Given the description of an element on the screen output the (x, y) to click on. 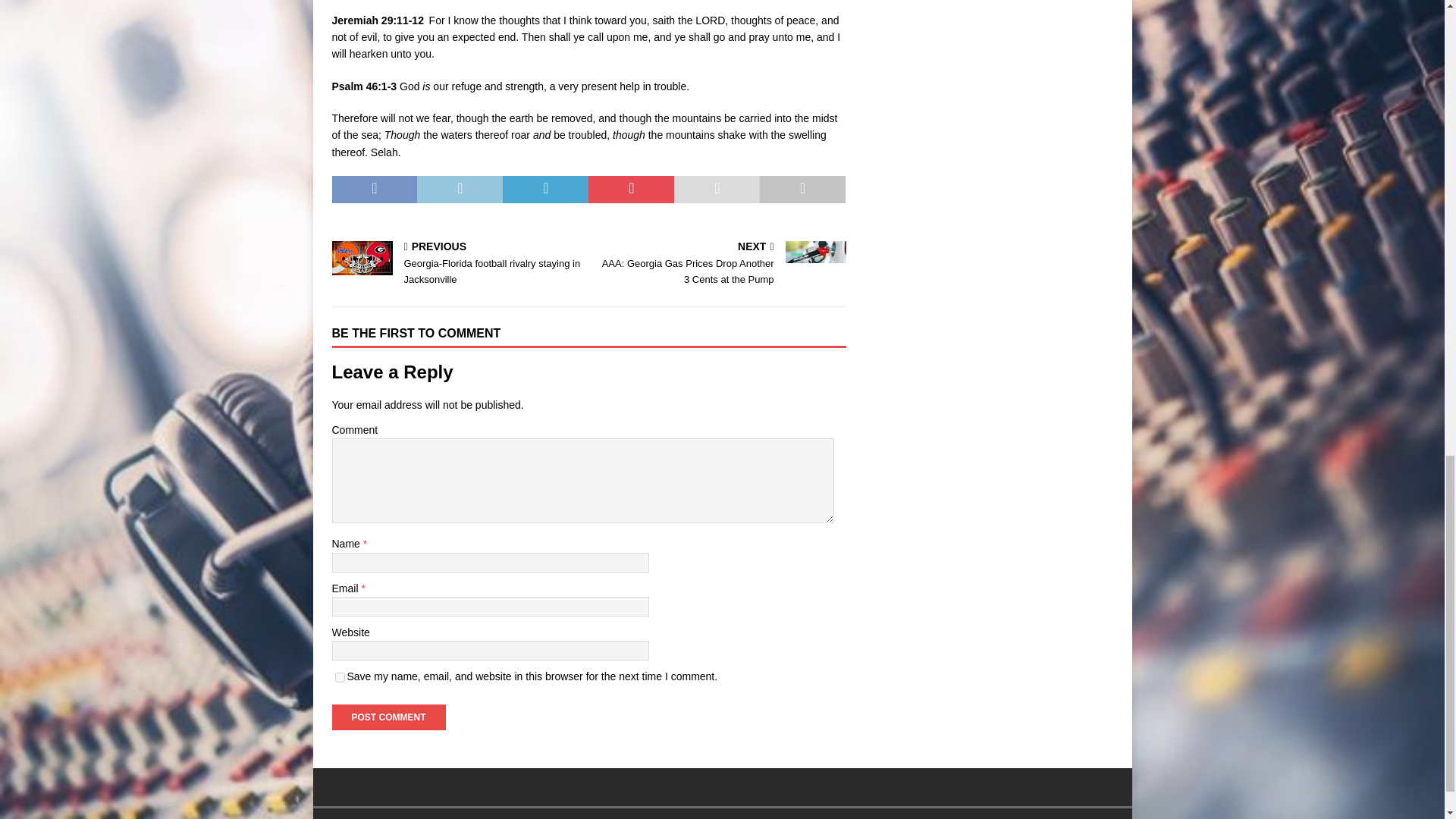
yes (339, 677)
Post Comment (388, 717)
